Given the description of an element on the screen output the (x, y) to click on. 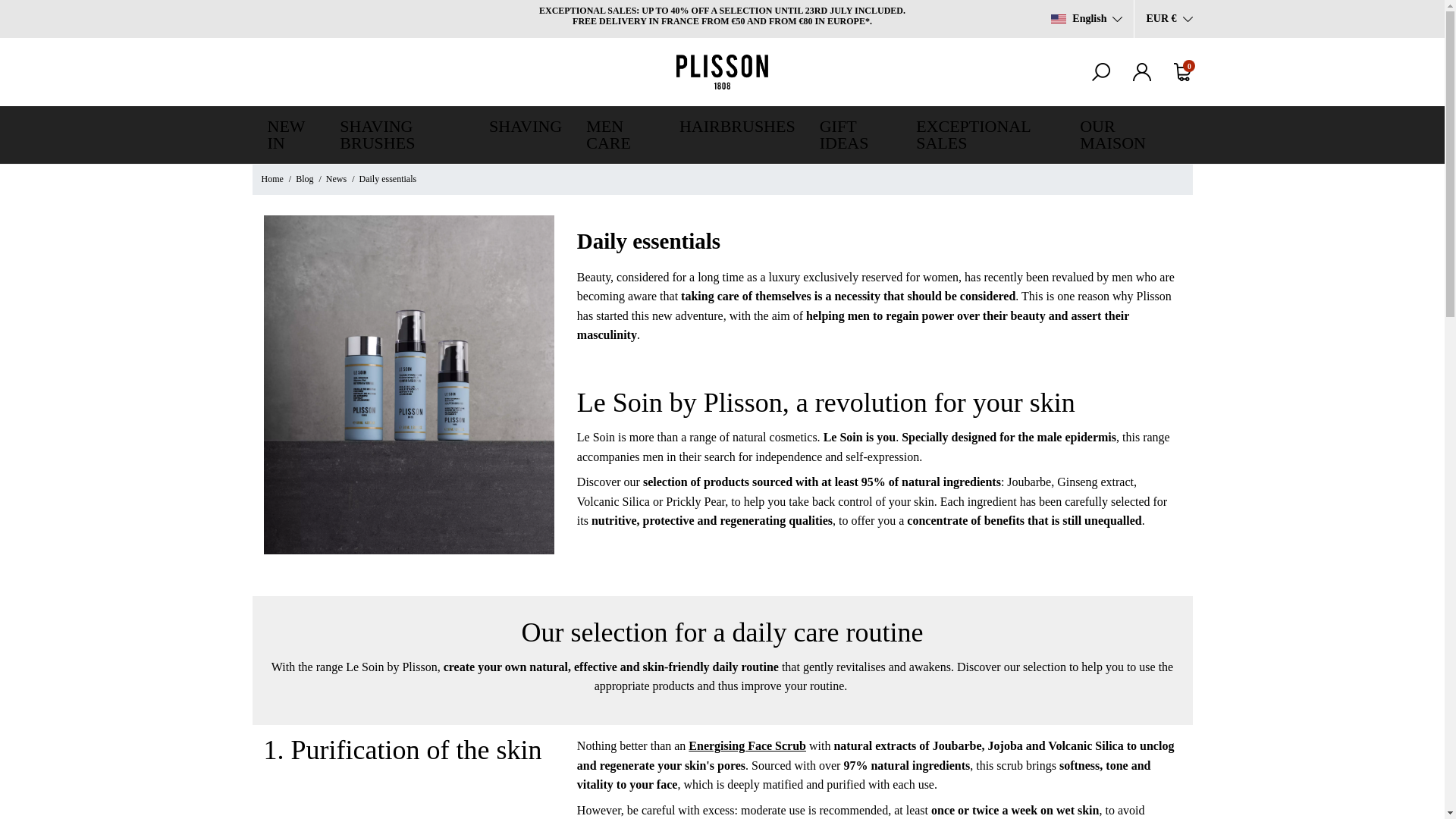
0 (1182, 71)
English (1086, 18)
SHAVING BRUSHES (402, 134)
Log in to your customer account (1141, 71)
NEW IN (296, 134)
